Given the description of an element on the screen output the (x, y) to click on. 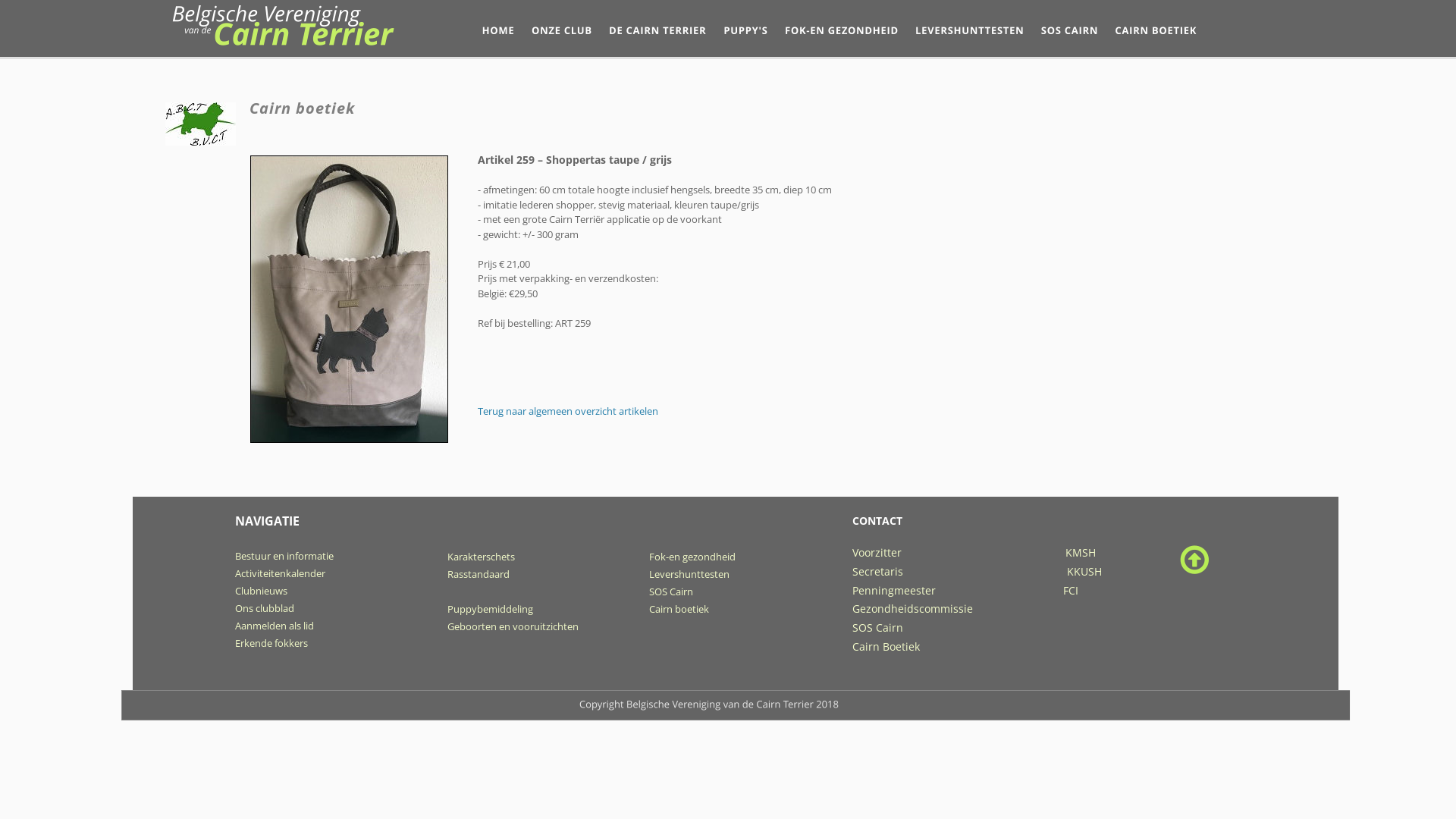
Clubnieuws Element type: text (261, 590)
Geboorten en vooruitzichten Element type: text (512, 626)
KKUSH Element type: text (1083, 571)
SOS Cairn Element type: text (671, 591)
Secretaris  Element type: text (879, 571)
Gezondheidscommissie Element type: text (912, 608)
Ons clubblad Element type: text (264, 608)
Voorzitter  Element type: text (878, 552)
Terug naar algemeen overzicht artikelen Element type: text (567, 410)
Cairn Boetiek Element type: text (885, 646)
Fok-en gezondheid Element type: text (692, 556)
Rasstandaard Element type: text (478, 573)
Levershunttesten Element type: text (689, 573)
Activiteitenkalender Element type: text (280, 573)
SOS Cairn Element type: text (877, 627)
Cairn boetiek Element type: text (679, 608)
Aanmelden als lid Element type: text (274, 625)
Bestuur en informatie Element type: text (284, 555)
FCI Element type: text (1070, 590)
Penningmeester                                           Element type: text (957, 590)
Erkende fokkers Element type: text (271, 642)
KMSH Element type: text (1080, 552)
Karakterschets Element type: text (480, 556)
                                                     Element type: text (987, 571)
Puppybemiddeling Element type: text (490, 608)
